Given the description of an element on the screen output the (x, y) to click on. 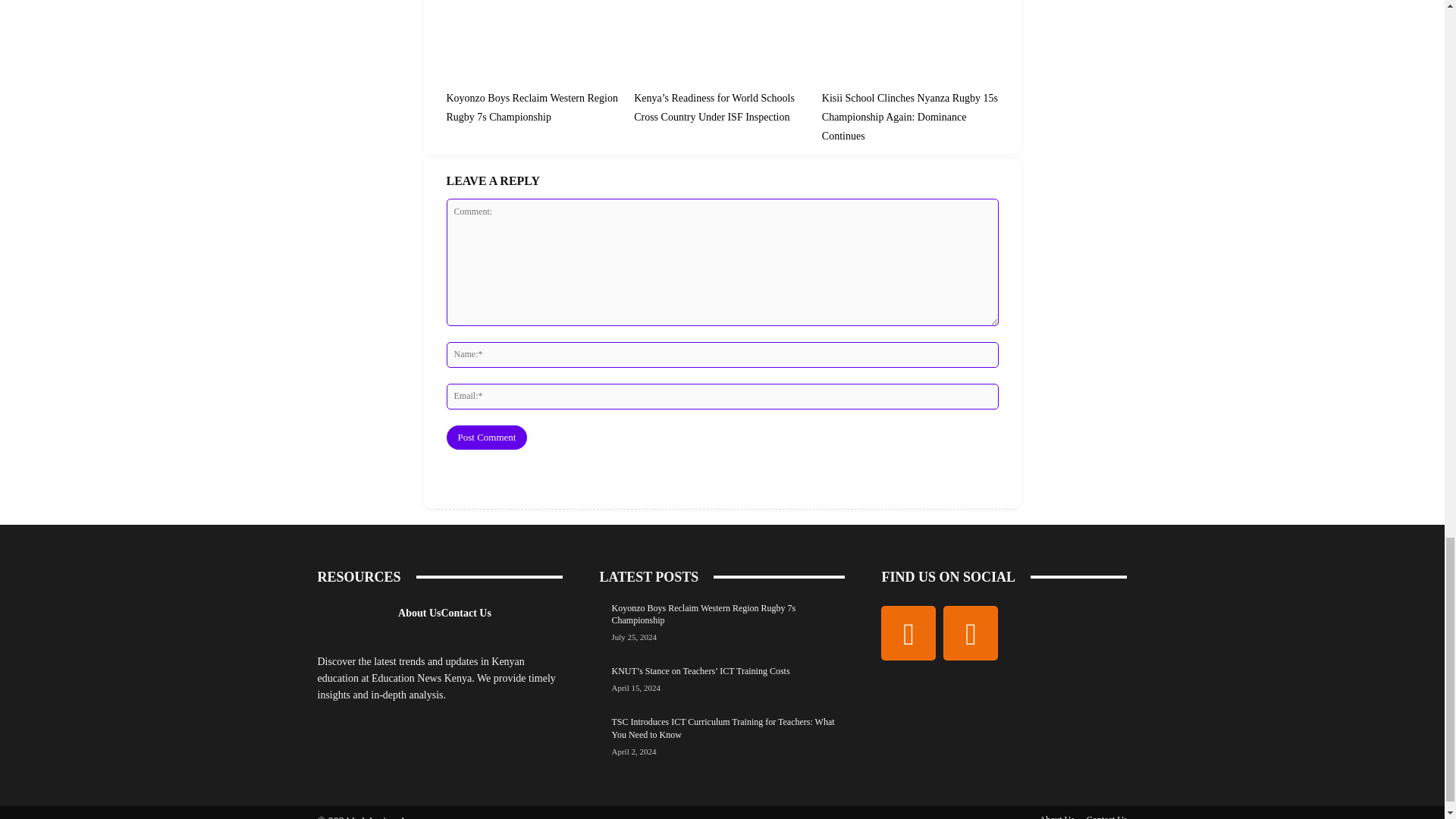
Koyonzo Boys Reclaim Western Region Rugby 7s Championship (702, 614)
Twitter (970, 633)
Facebook (908, 633)
Koyonzo Boys Reclaim Western Region Rugby 7s Championship (531, 107)
Koyonzo Boys Reclaim Western Region Rugby 7s Championship (531, 107)
Post Comment (486, 437)
Koyonzo Boys Reclaim Western Region Rugby 7s Championship (534, 41)
